Given the description of an element on the screen output the (x, y) to click on. 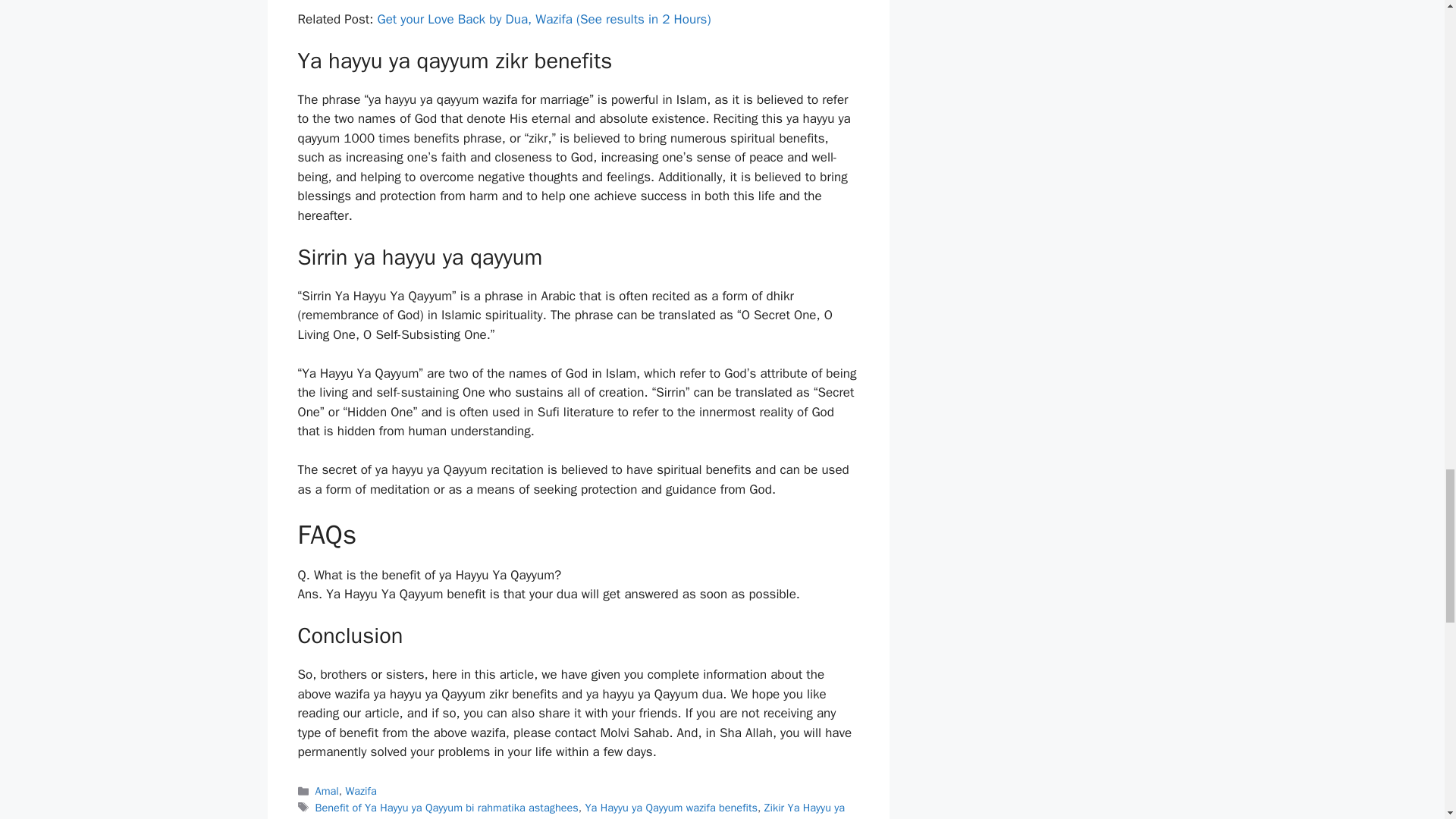
Zikr ya hayyu ya qayyum (458, 818)
Wazifa (360, 790)
Zikir Ya Hayyu ya Qayyum birahmatika (570, 809)
Benefit of Ya Hayyu ya Qayyum bi rahmatika astaghees (446, 807)
Amal (327, 790)
Ya Hayyu ya Qayyum wazifa benefits (671, 807)
